Given the description of an element on the screen output the (x, y) to click on. 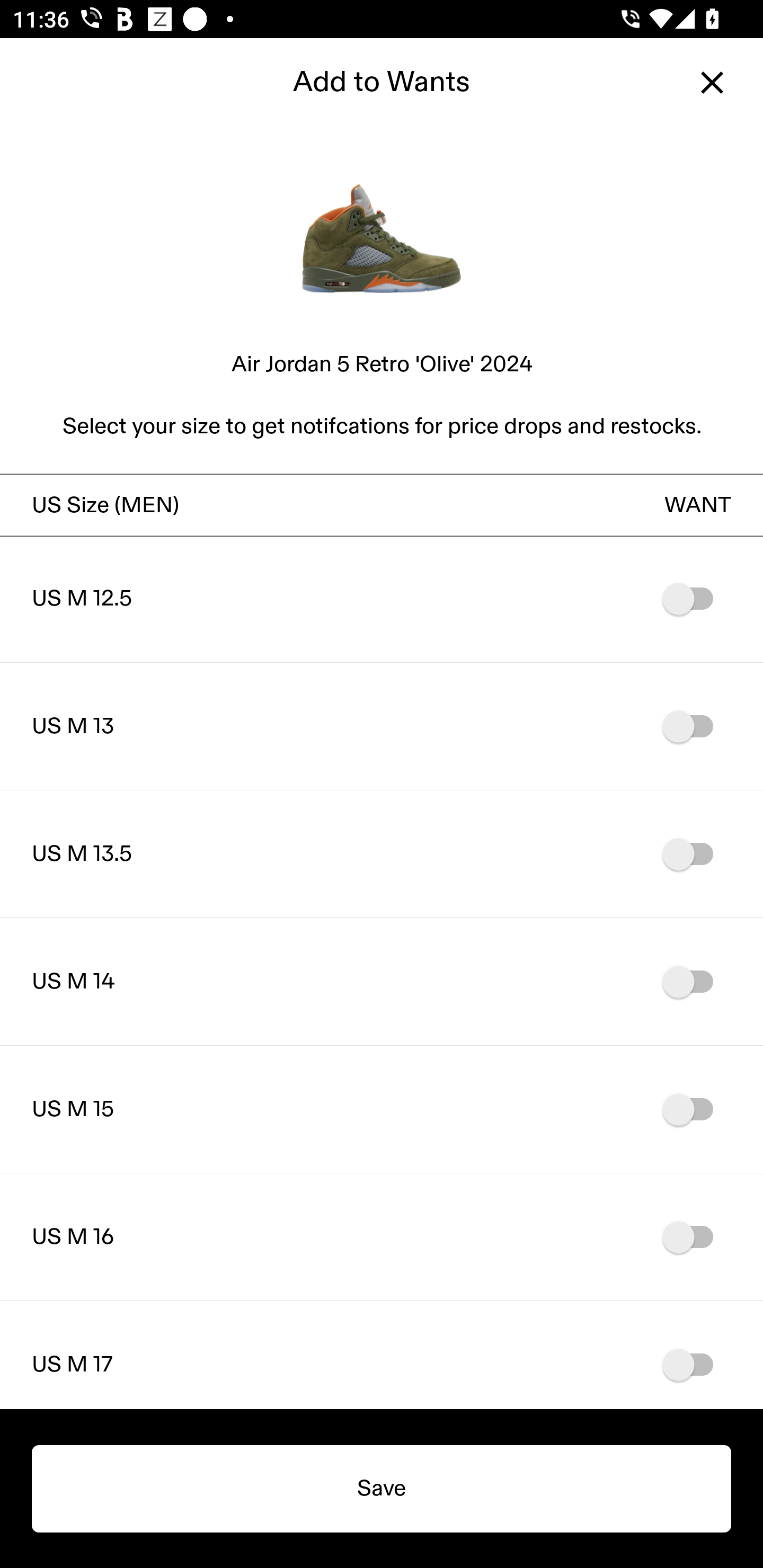
Save (381, 1488)
